Given the description of an element on the screen output the (x, y) to click on. 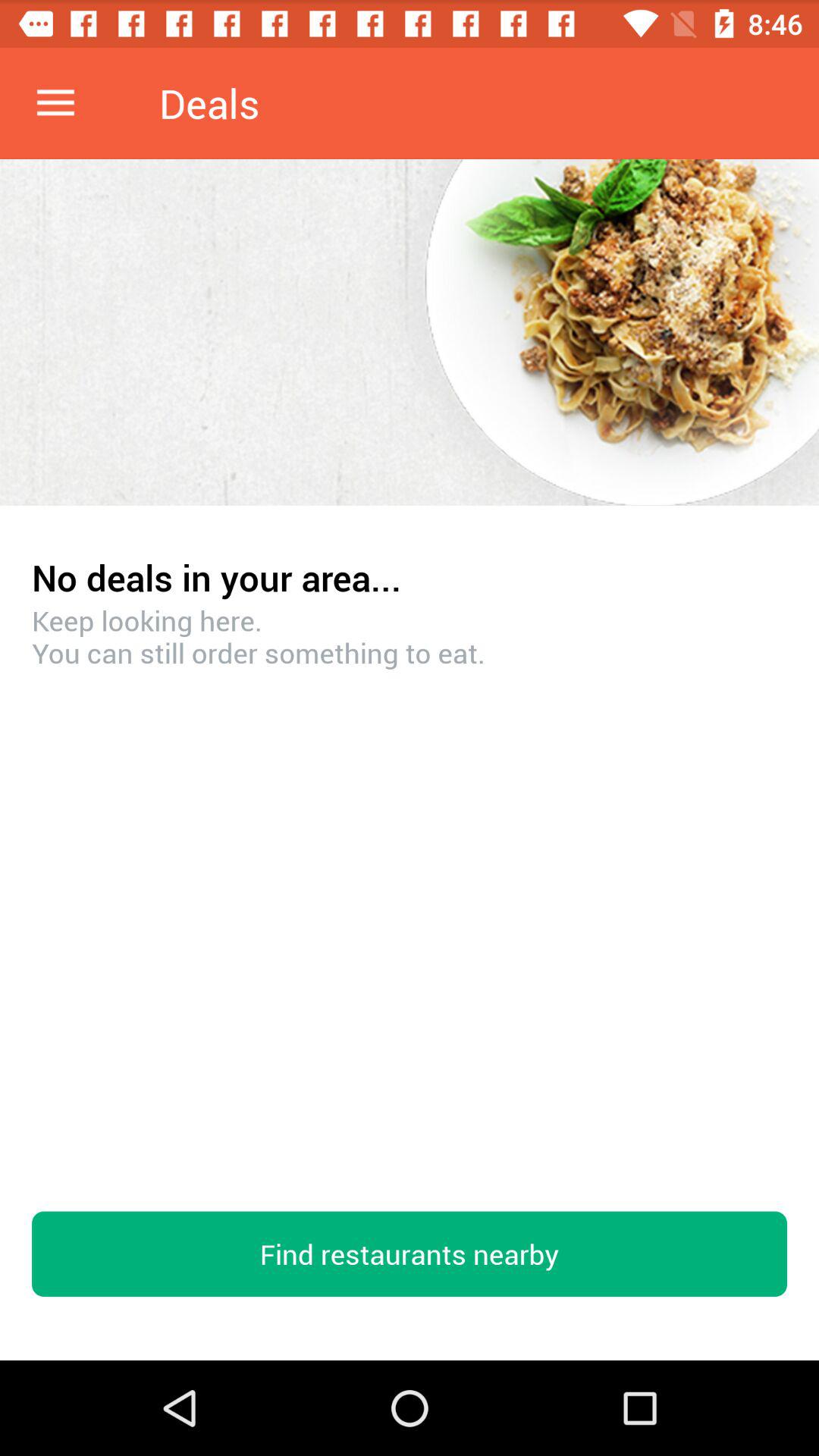
select icon next to the deals (55, 103)
